Given the description of an element on the screen output the (x, y) to click on. 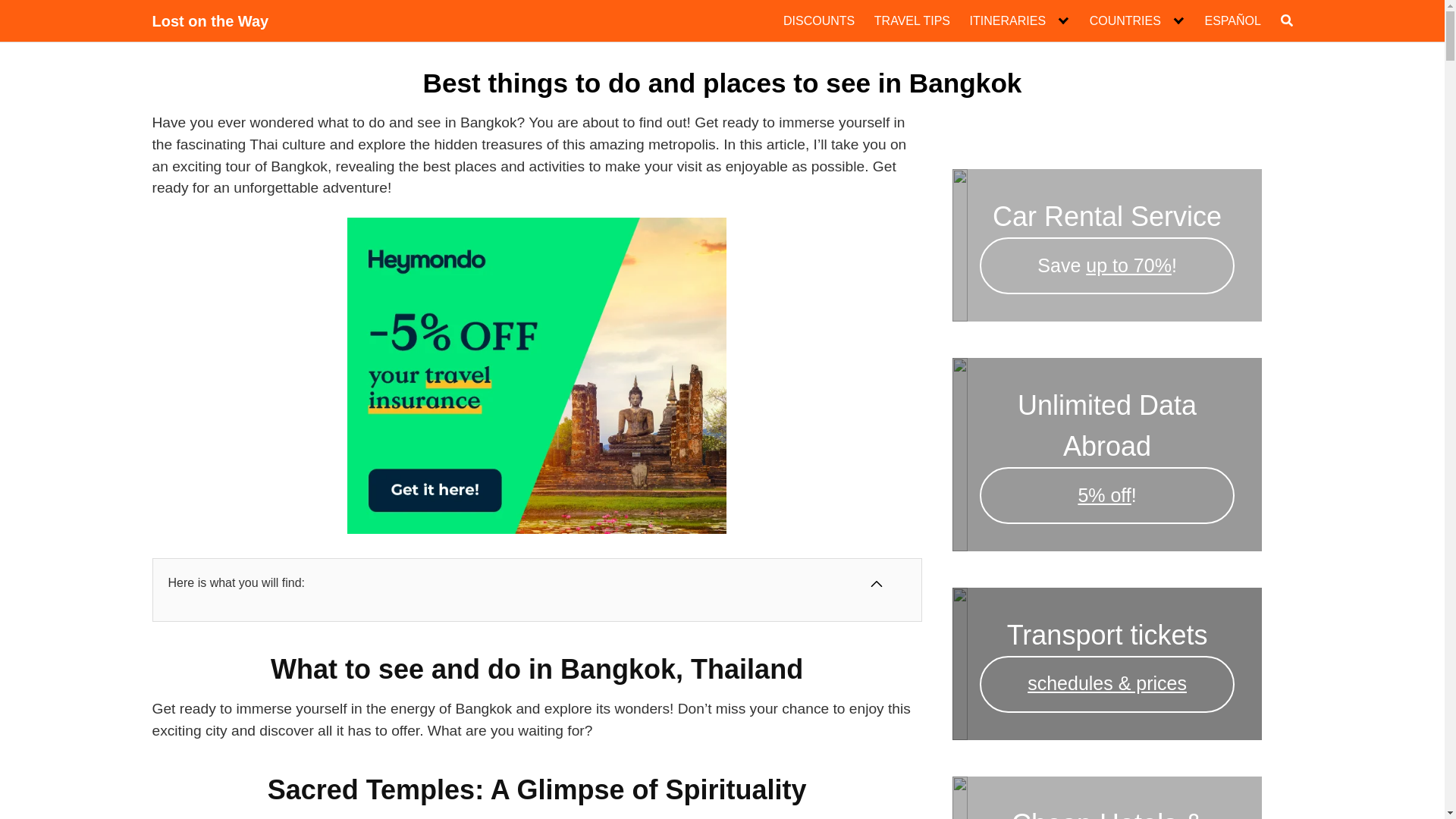
ITINERARIES (1019, 20)
fa fa-plane (1137, 20)
COUNTRIES (1137, 20)
TRAVEL TIPS (912, 20)
Lost on the Way (209, 20)
DISCOUNTS (818, 20)
